Given the description of an element on the screen output the (x, y) to click on. 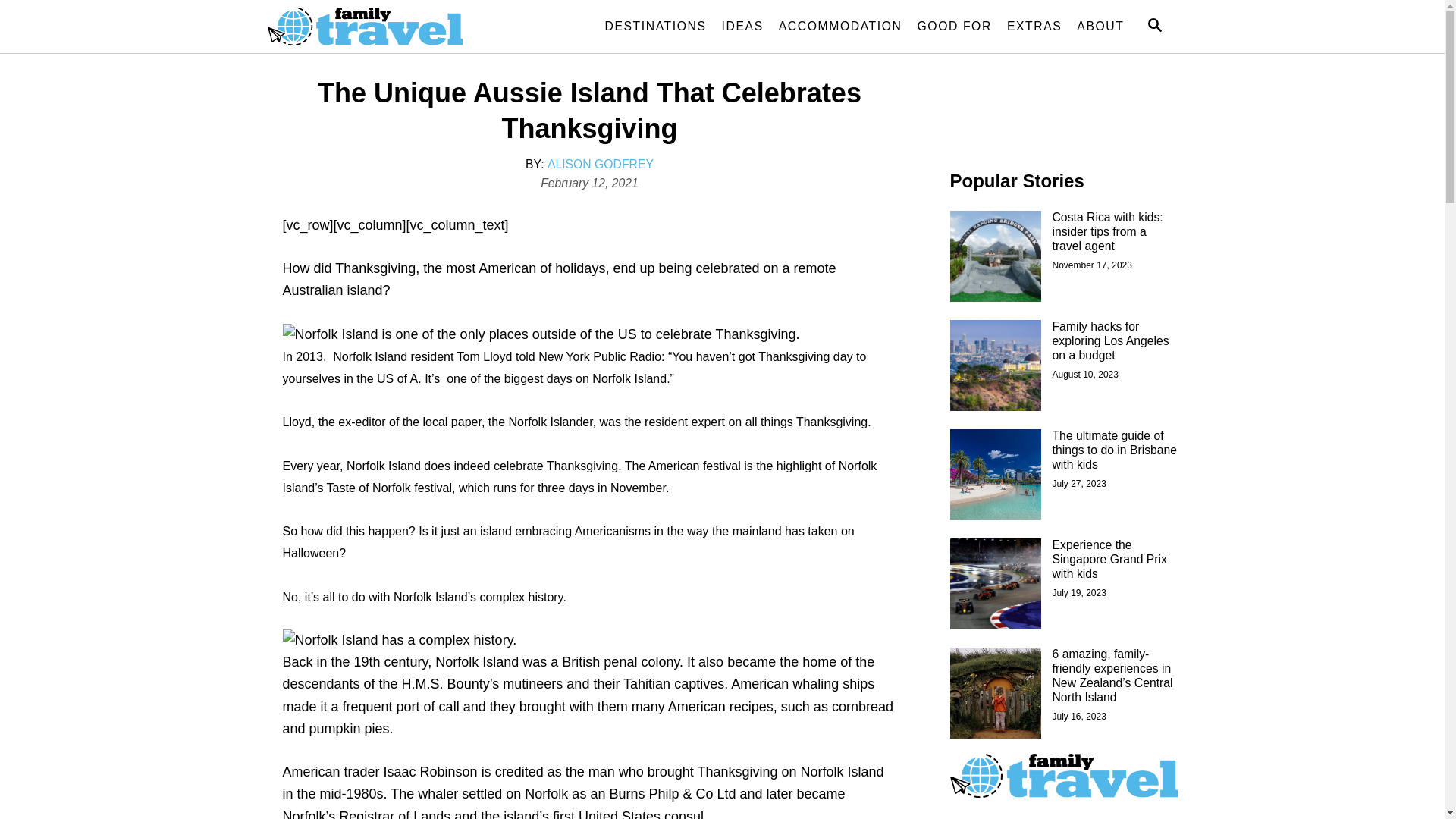
ACCOMMODATION Element type: text (840, 26)
The ultimate guide of things to do in Brisbane with kids Element type: text (1114, 449)
November 17, 2023 Element type: text (1092, 265)
ALISON GODFREY Element type: text (600, 163)
Family hacks for exploring Los Angeles on a budget Element type: text (1110, 340)
ABOUT Element type: text (1100, 26)
SEARCH
MAGNIFYING GLASS Element type: text (1153, 25)
July 16, 2023 Element type: text (1079, 716)
DESTINATIONS Element type: text (654, 26)
July 19, 2023 Element type: text (1079, 592)
IDEAS Element type: text (742, 26)
July 27, 2023 Element type: text (1079, 483)
August 10, 2023 Element type: text (1085, 374)
GOOD FOR Element type: text (954, 26)
Family Travel Element type: hover (402, 26)
Costa Rica with kids: insider tips from a travel agent Element type: text (1107, 231)
EXTRAS Element type: text (1034, 26)
Experience the Singapore Grand Prix with kids Element type: text (1109, 559)
